Given the description of an element on the screen output the (x, y) to click on. 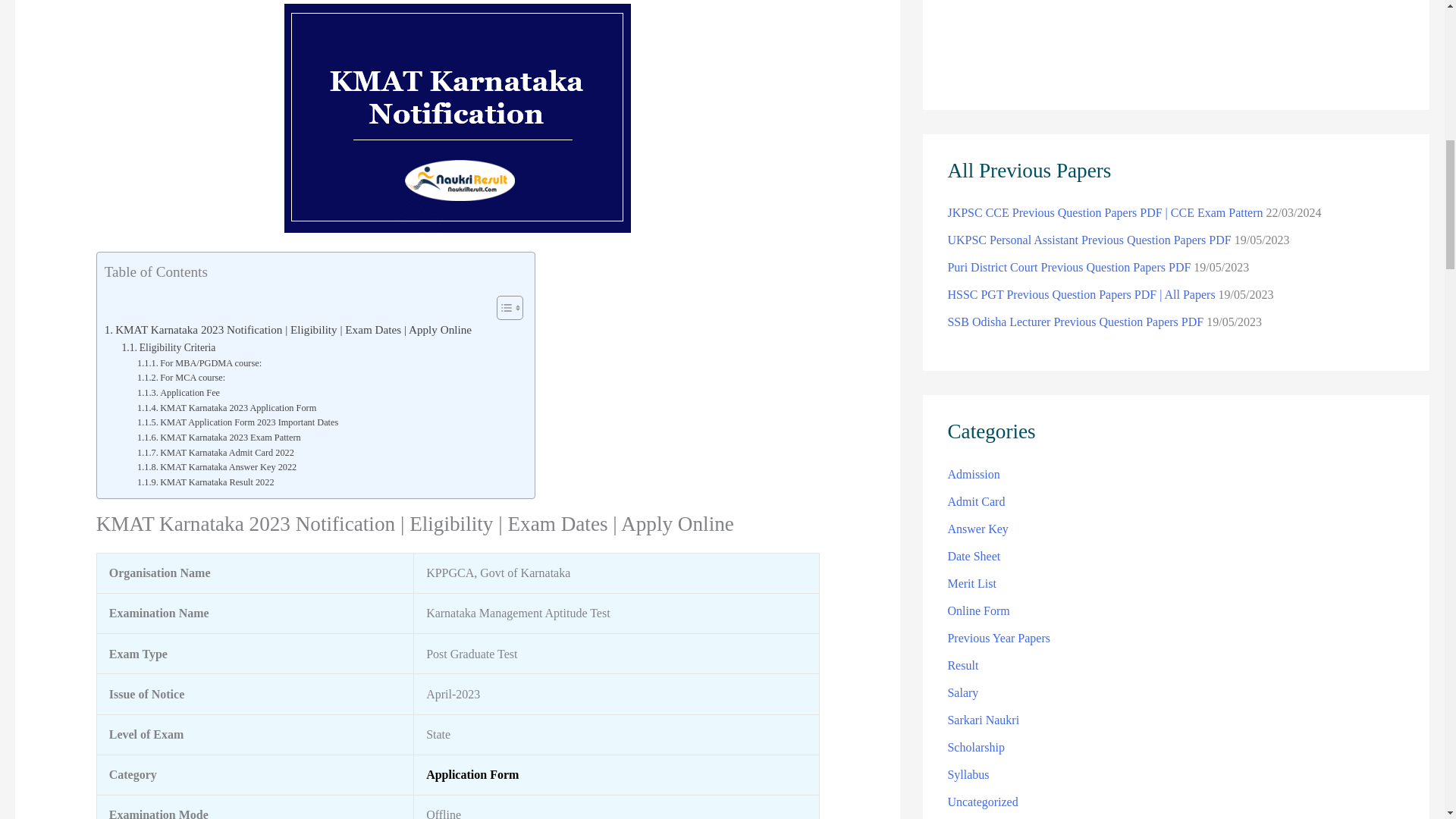
KMAT Karnataka 2023 Application Form (225, 408)
Eligibility Criteria (168, 347)
KMAT Karnataka Answer Key 2022 (216, 467)
For MCA course: (180, 378)
KMAT Karnataka Admit Card 2022 (215, 453)
KMAT Application Form 2023 Important Dates (236, 422)
KMAT Karnataka 2023 Exam Pattern (218, 437)
Application Fee (177, 393)
Eligibility Criteria (168, 347)
KMAT Karnataka Result 2022 (205, 482)
